Given the description of an element on the screen output the (x, y) to click on. 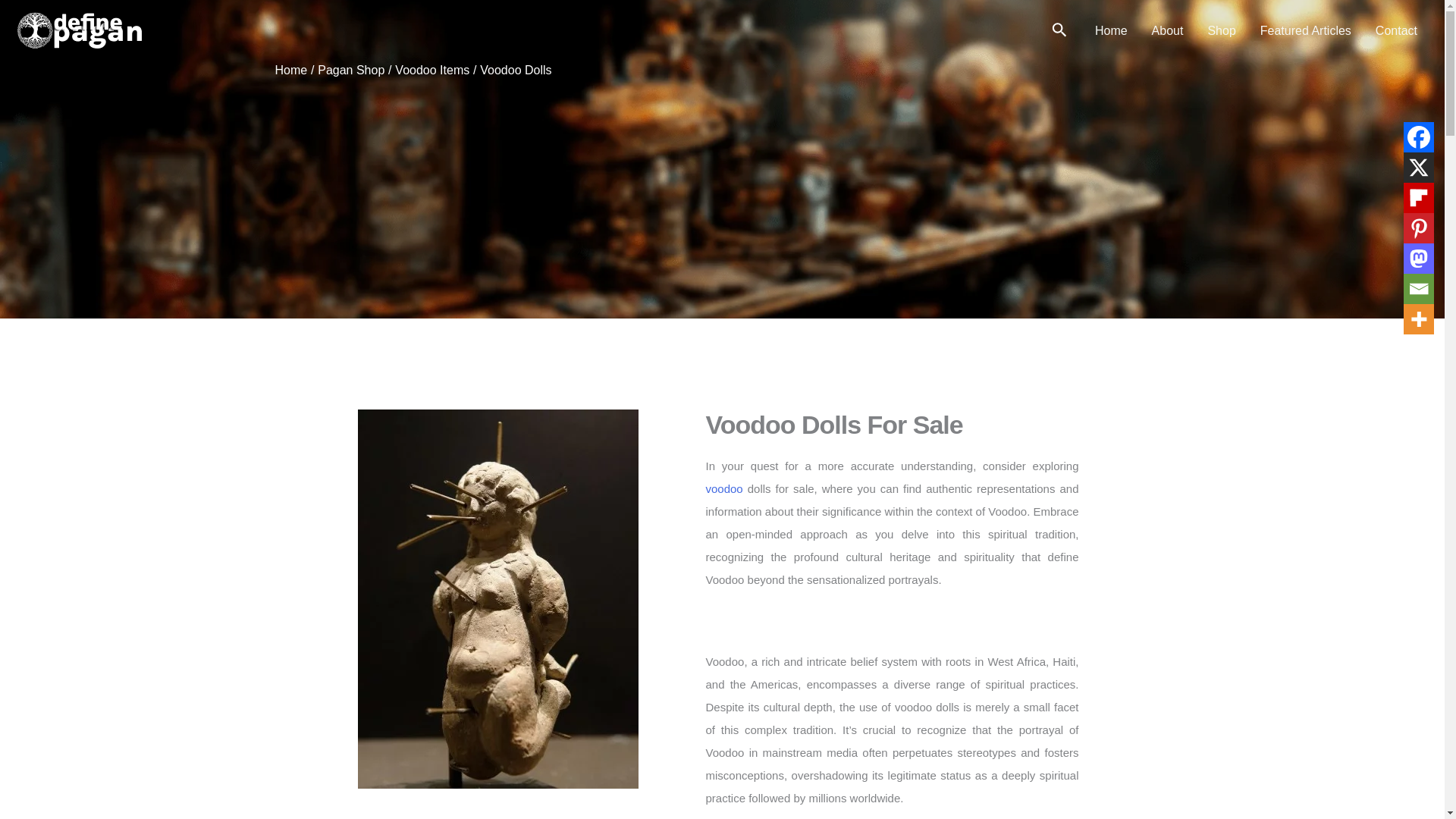
Contact (1395, 30)
Home (1111, 30)
Featured Articles (1304, 30)
Facebook (1418, 137)
Flipboard (1418, 197)
More (1418, 318)
Voodoo Items (431, 69)
X (1418, 167)
Pagan Shop (350, 69)
Search (1059, 31)
Shop (1221, 30)
Pinterest (1418, 227)
About (1167, 30)
voodoo (723, 488)
Email (1418, 288)
